Given the description of an element on the screen output the (x, y) to click on. 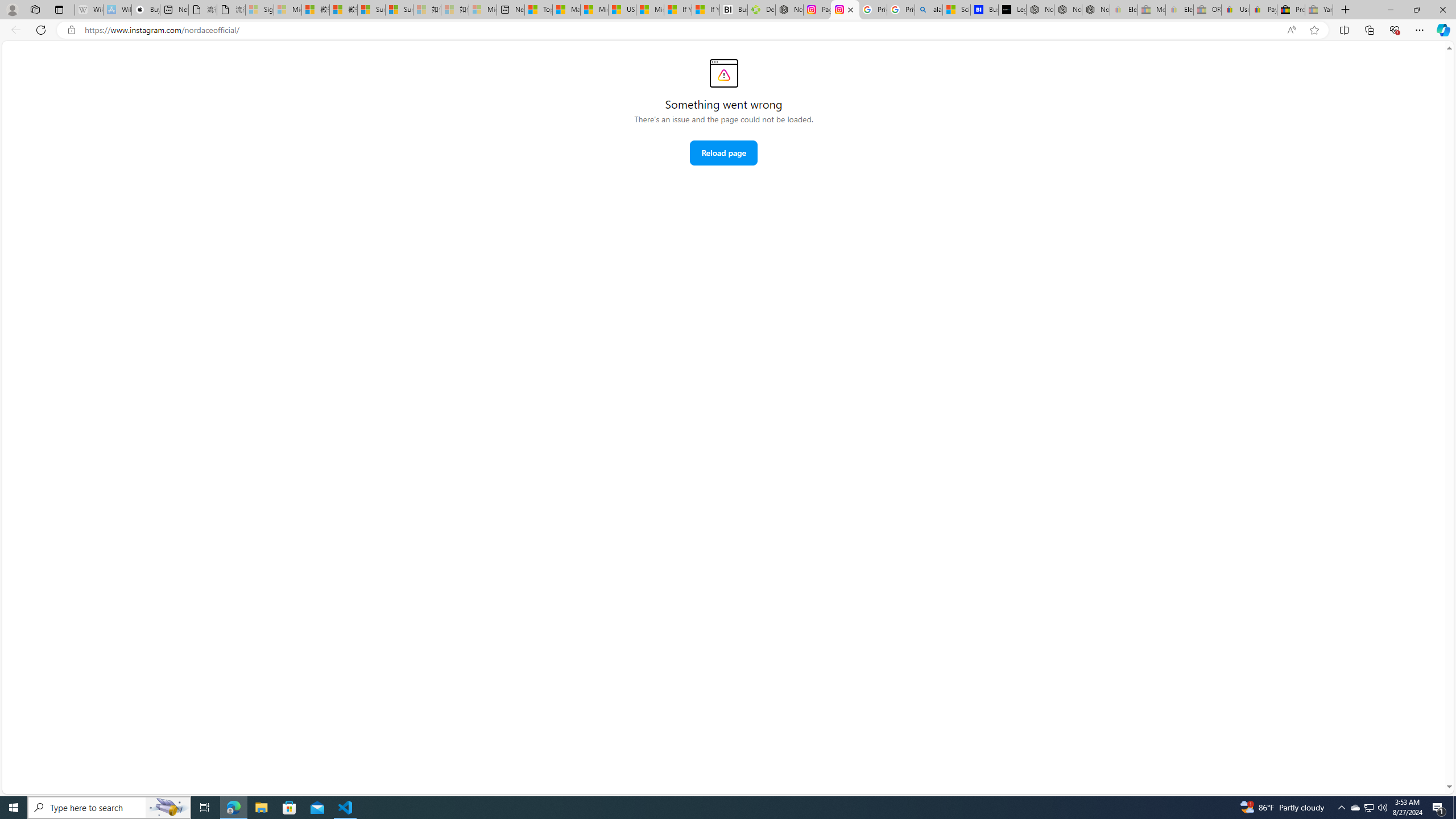
Press Room - eBay Inc. (1291, 9)
Wikipedia - Sleeping (88, 9)
Sign in to your Microsoft account - Sleeping (259, 9)
Buy iPad - Apple (145, 9)
